Given the description of an element on the screen output the (x, y) to click on. 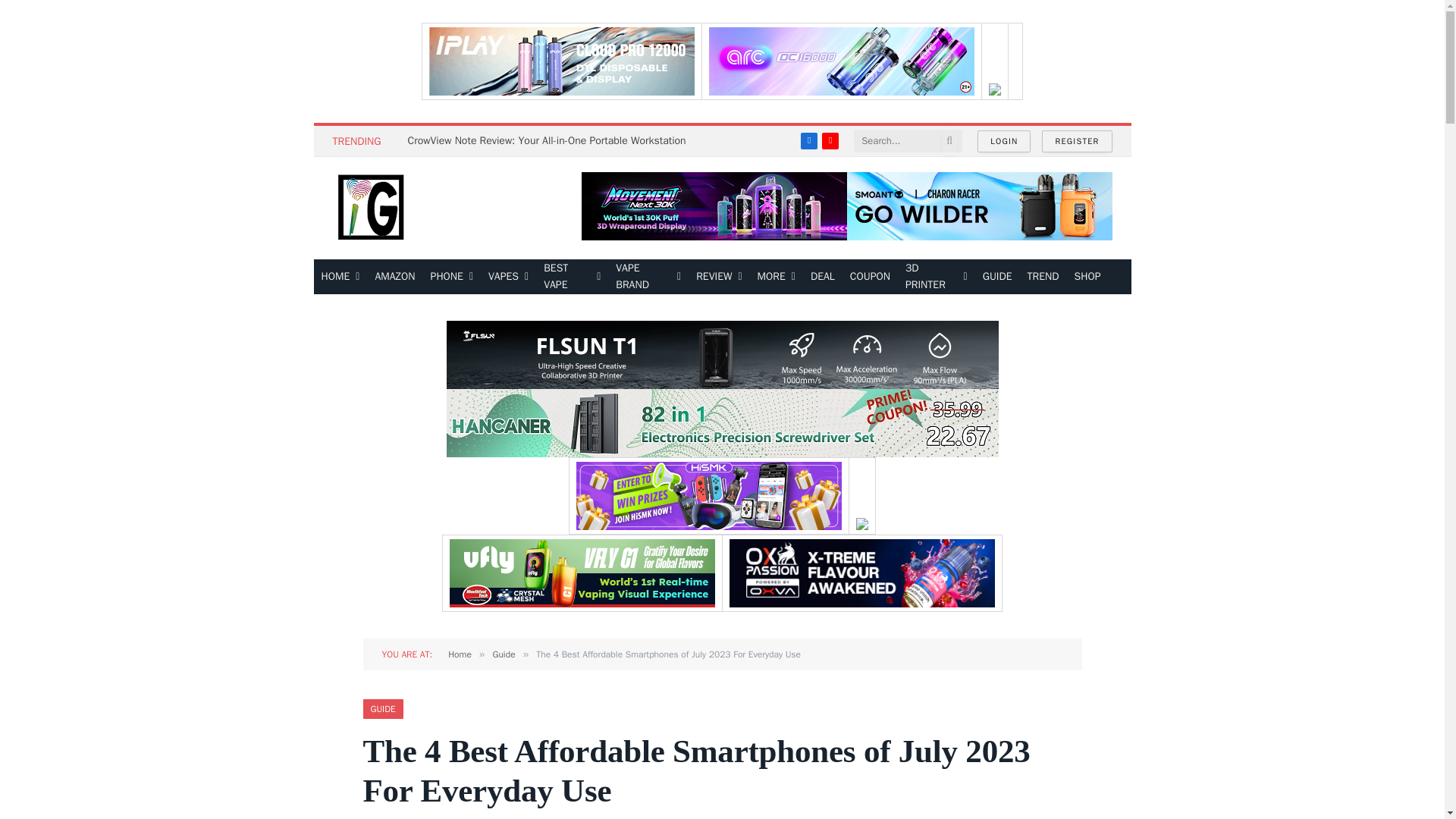
LOGIN (1003, 141)
AMAZON (394, 276)
REGISTER (1077, 141)
Facebook (808, 140)
CrowView Note Review: Your All-in-One Portable Workstation (550, 141)
YouTube (830, 140)
HOME (341, 276)
PHONE (451, 276)
